Given the description of an element on the screen output the (x, y) to click on. 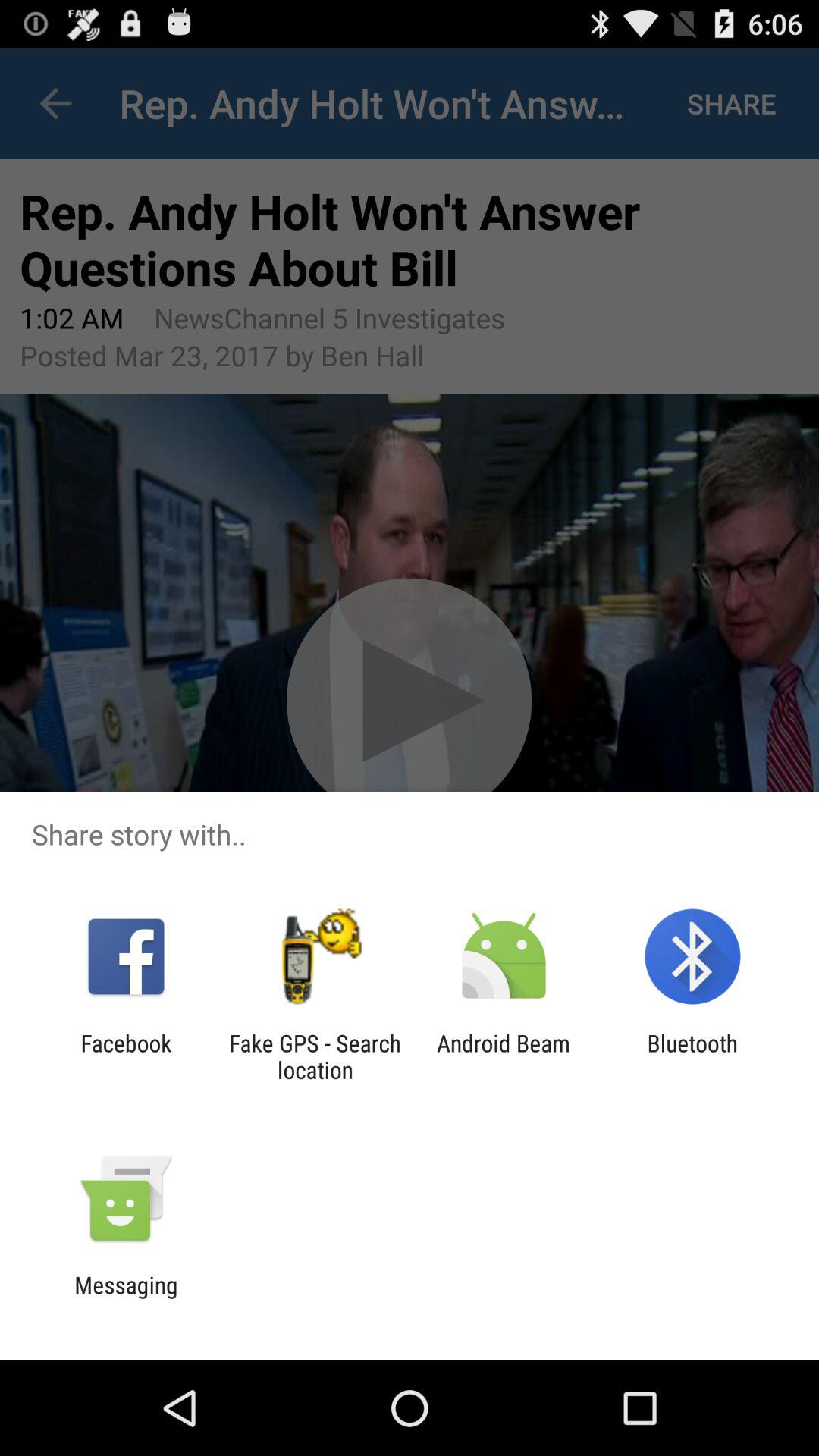
press fake gps search item (314, 1056)
